Given the description of an element on the screen output the (x, y) to click on. 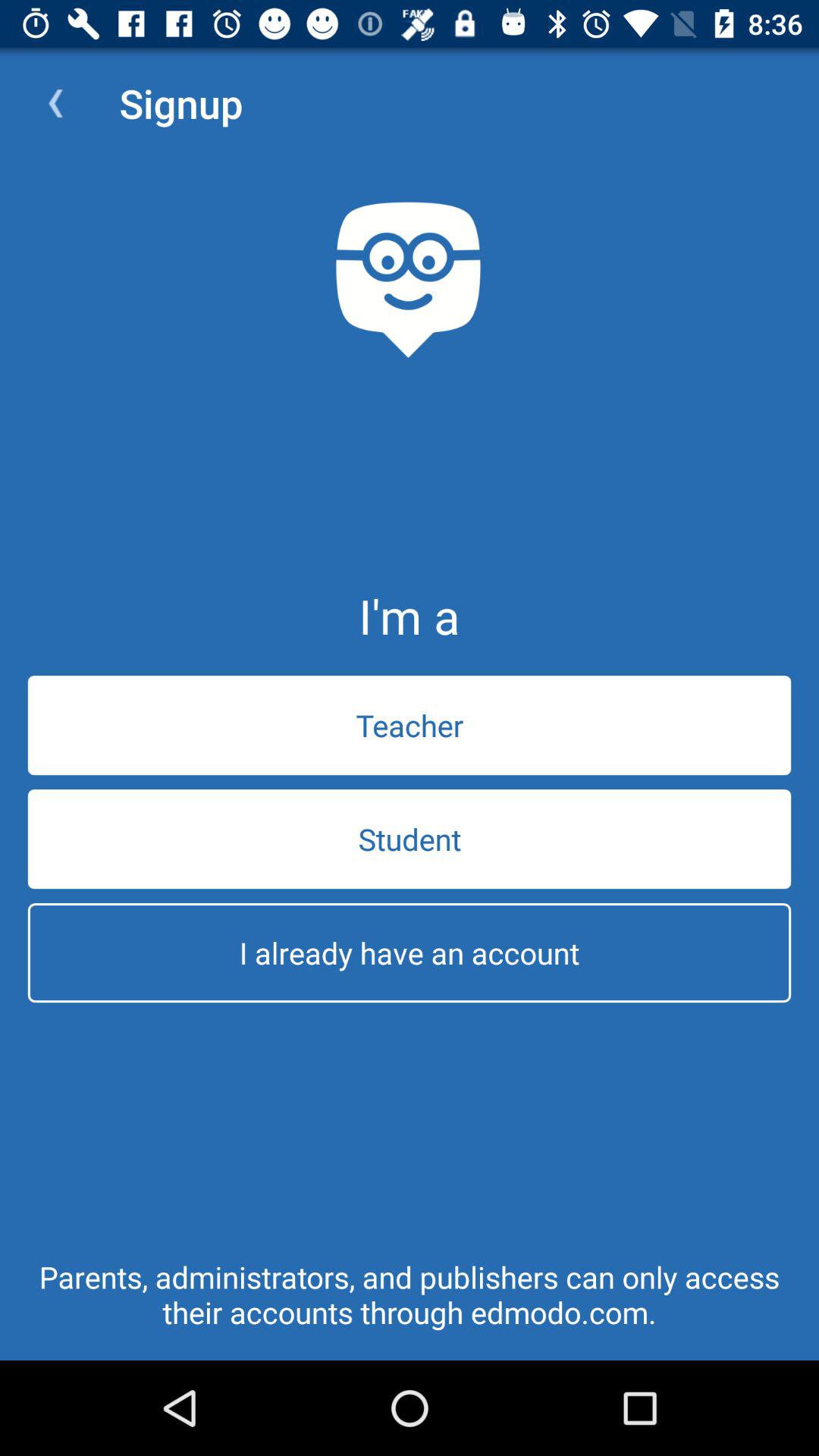
turn off icon above teacher (55, 103)
